Given the description of an element on the screen output the (x, y) to click on. 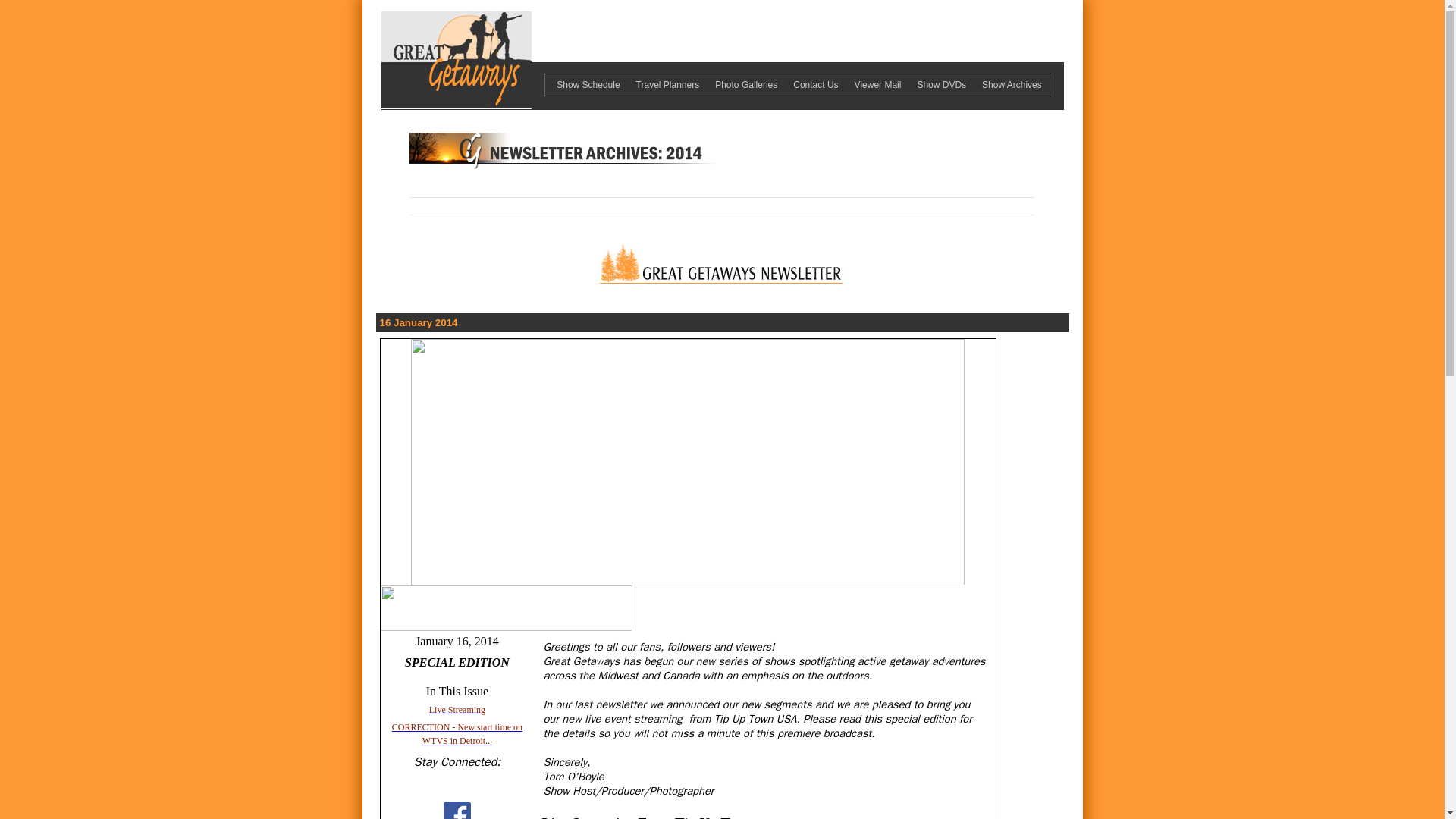
CORRECTION - New start time on WTVS in Detroit... (456, 733)
Viewer Mail (876, 84)
Travel Planners (665, 84)
Travel Planners (665, 84)
Photo Galleries (744, 84)
Show Schedule (585, 84)
Photo Galleries (744, 84)
Show Archives (1009, 84)
Show DVDs (939, 84)
Live Streaming (456, 709)
